Given the description of an element on the screen output the (x, y) to click on. 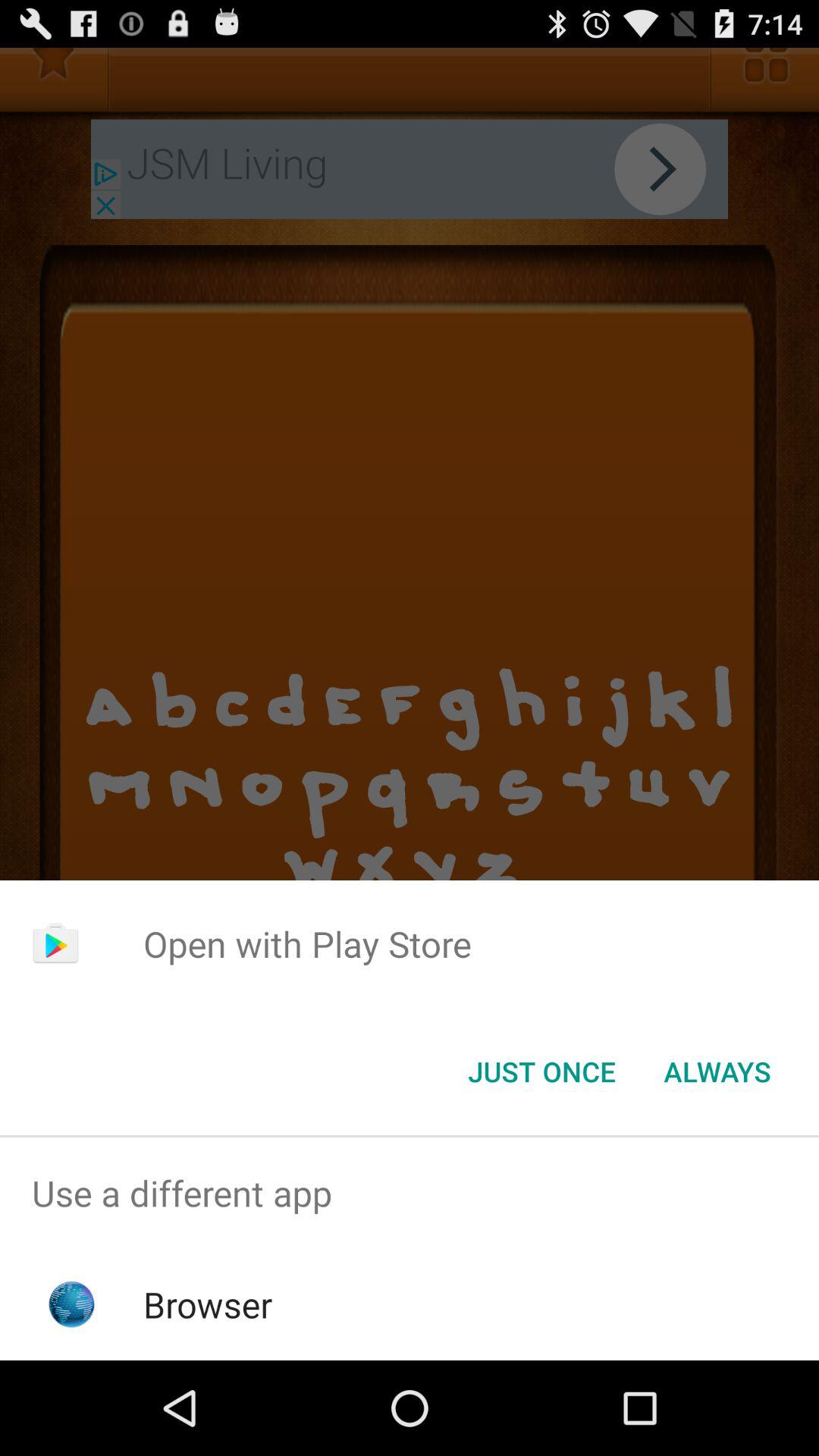
select the item below the use a different item (207, 1304)
